Given the description of an element on the screen output the (x, y) to click on. 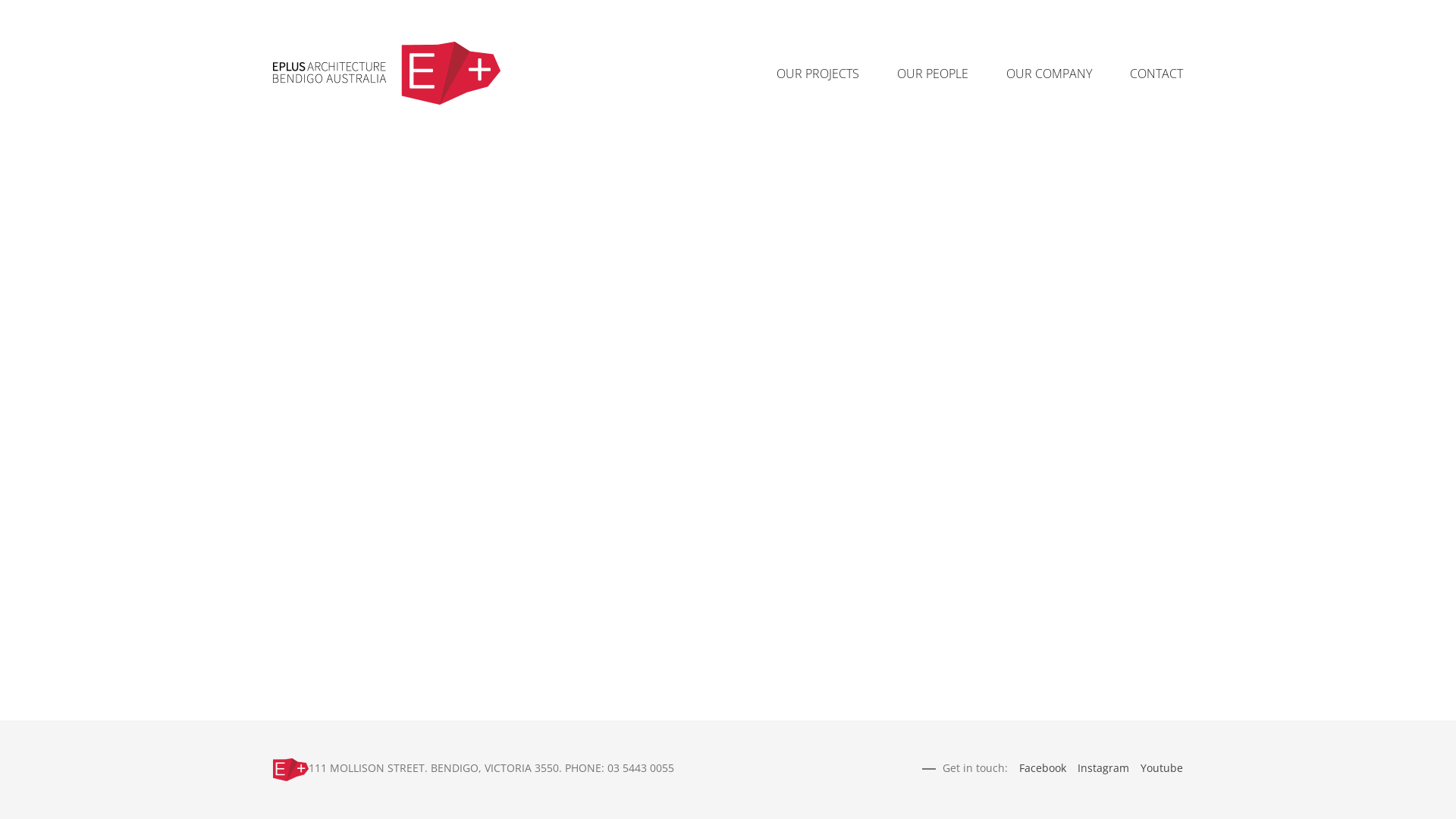
Youtube Element type: text (1161, 767)
Facebook Element type: text (1042, 767)
Instagram Element type: text (1103, 767)
OUR PROJECTS Element type: text (817, 72)
OUR PEOPLE Element type: text (932, 72)
CONTACT Element type: text (1156, 72)
OUR COMPANY Element type: text (1049, 72)
